Given the description of an element on the screen output the (x, y) to click on. 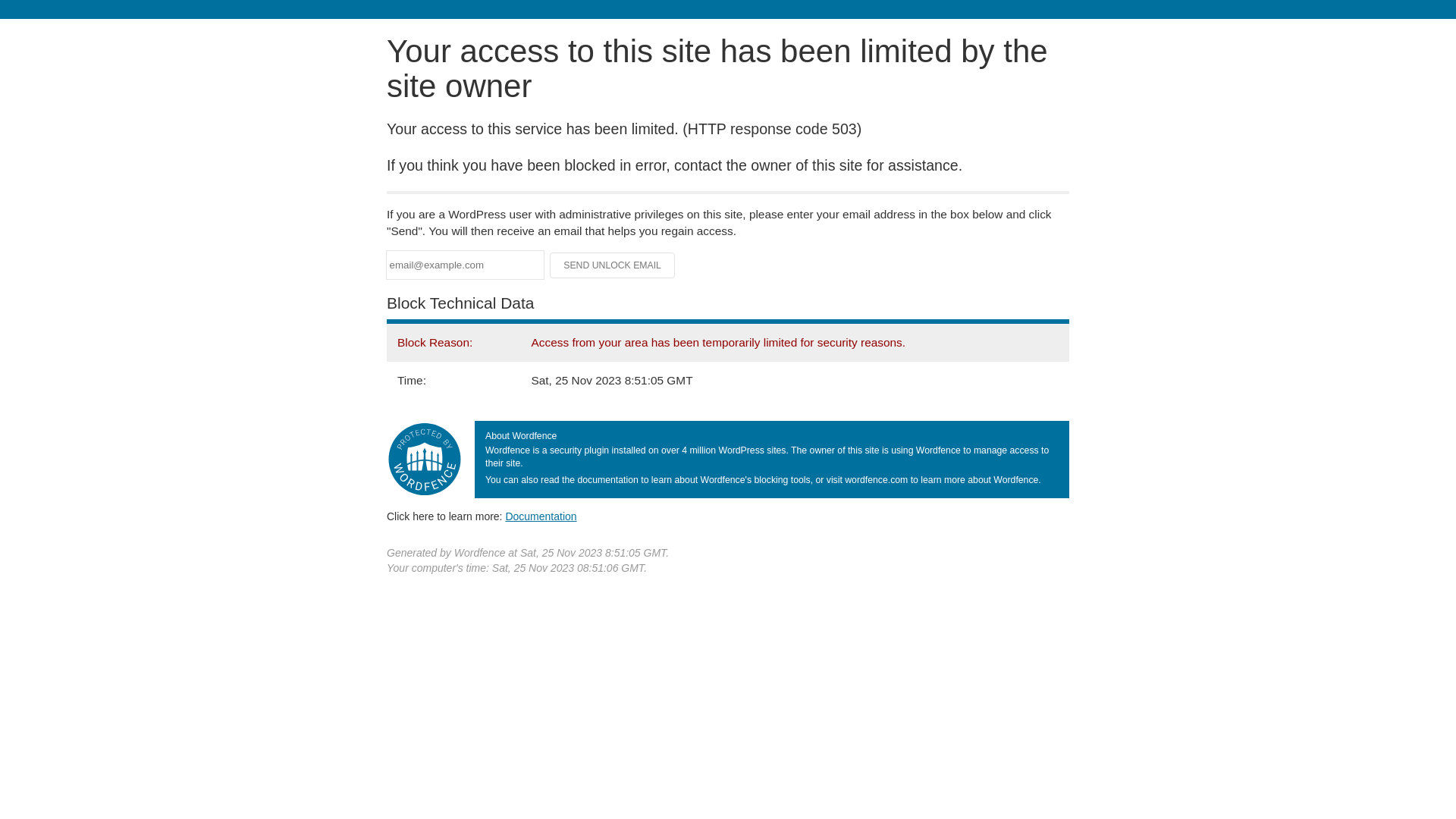
Send Unlock Email Element type: text (612, 265)
Documentation Element type: text (540, 516)
